Given the description of an element on the screen output the (x, y) to click on. 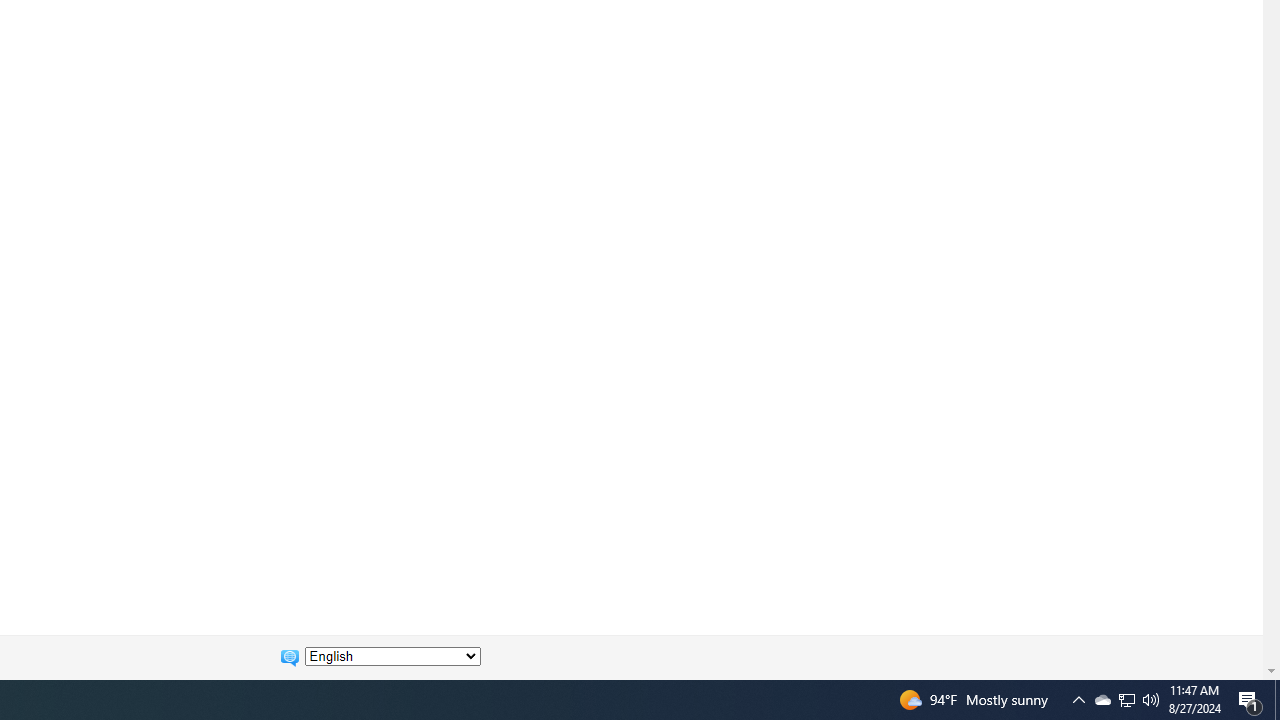
Change language: (392, 656)
